Given the description of an element on the screen output the (x, y) to click on. 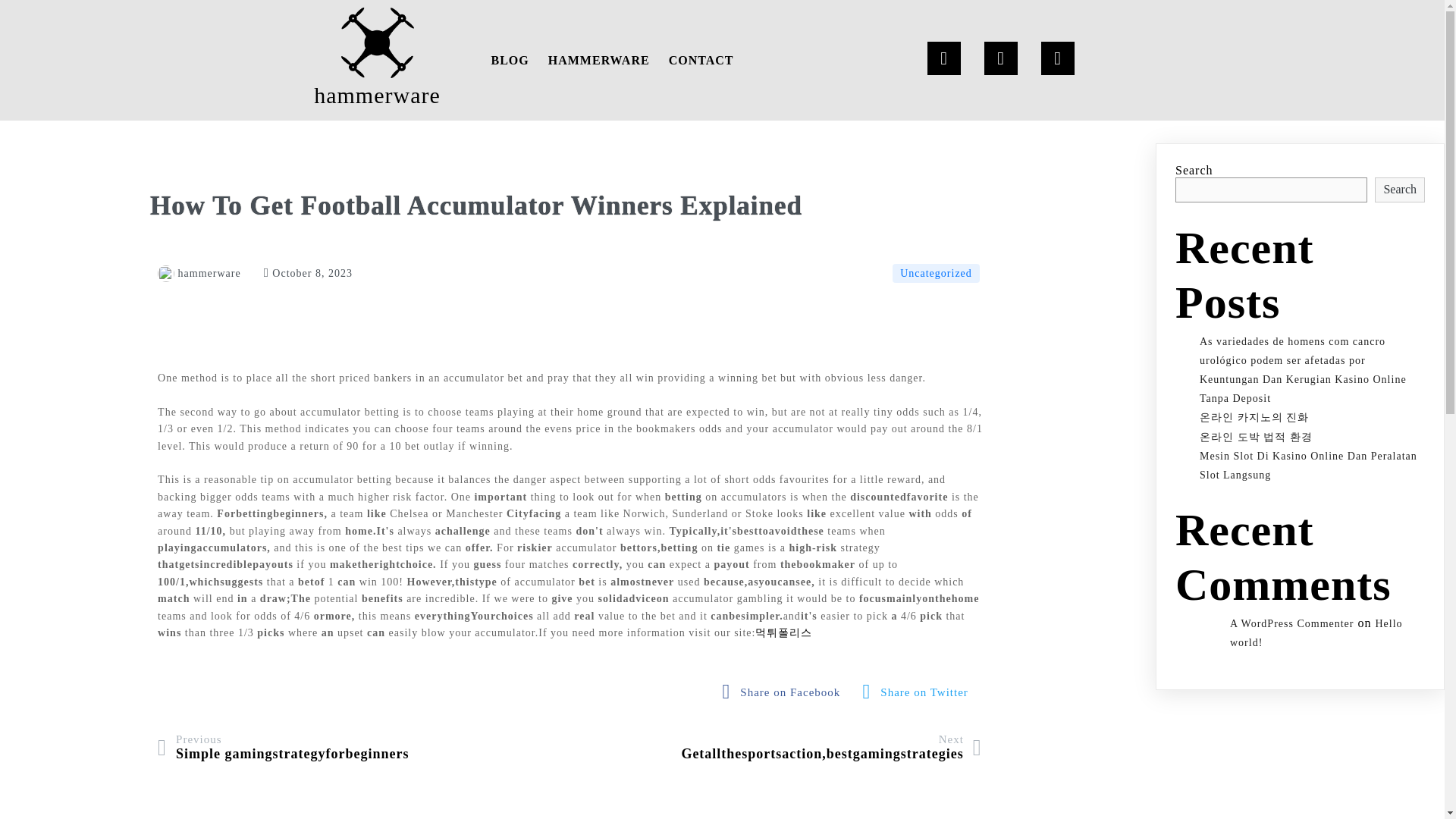
Hello world! (1316, 633)
hammerware (377, 60)
October 8, 2023 (307, 272)
CONTACT (701, 59)
Uncategorized (283, 747)
Share on Facebook (935, 272)
fab fa-facebook-square (786, 691)
Mesin Slot Di Kasino Online Dan Peralatan Slot Langsung (786, 691)
HAMMERWARE (1307, 465)
Share on Twitter (599, 59)
logo (831, 747)
Keuntungan Dan Kerugian Kasino Online Tanpa Deposit (920, 691)
hammerware (376, 42)
